Given the description of an element on the screen output the (x, y) to click on. 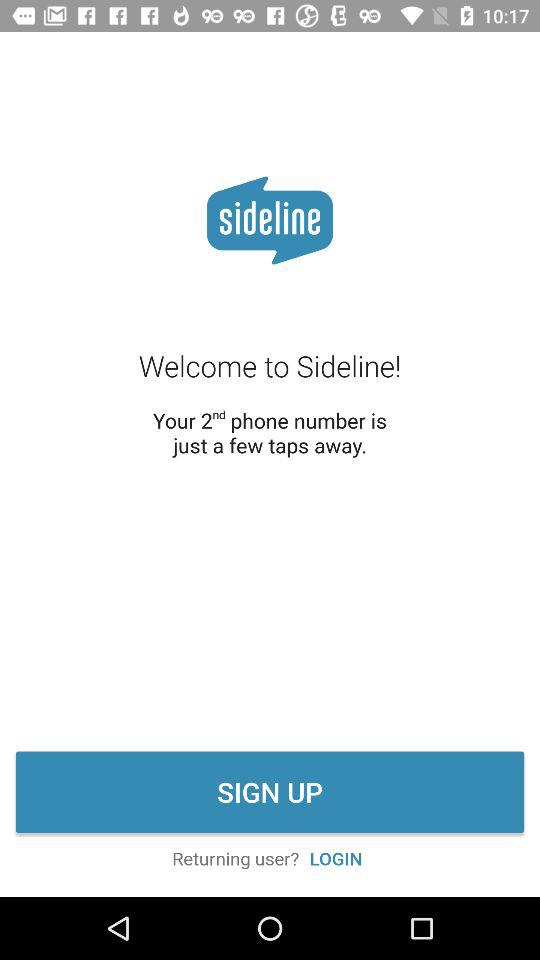
choose icon below the sign up icon (335, 858)
